Given the description of an element on the screen output the (x, y) to click on. 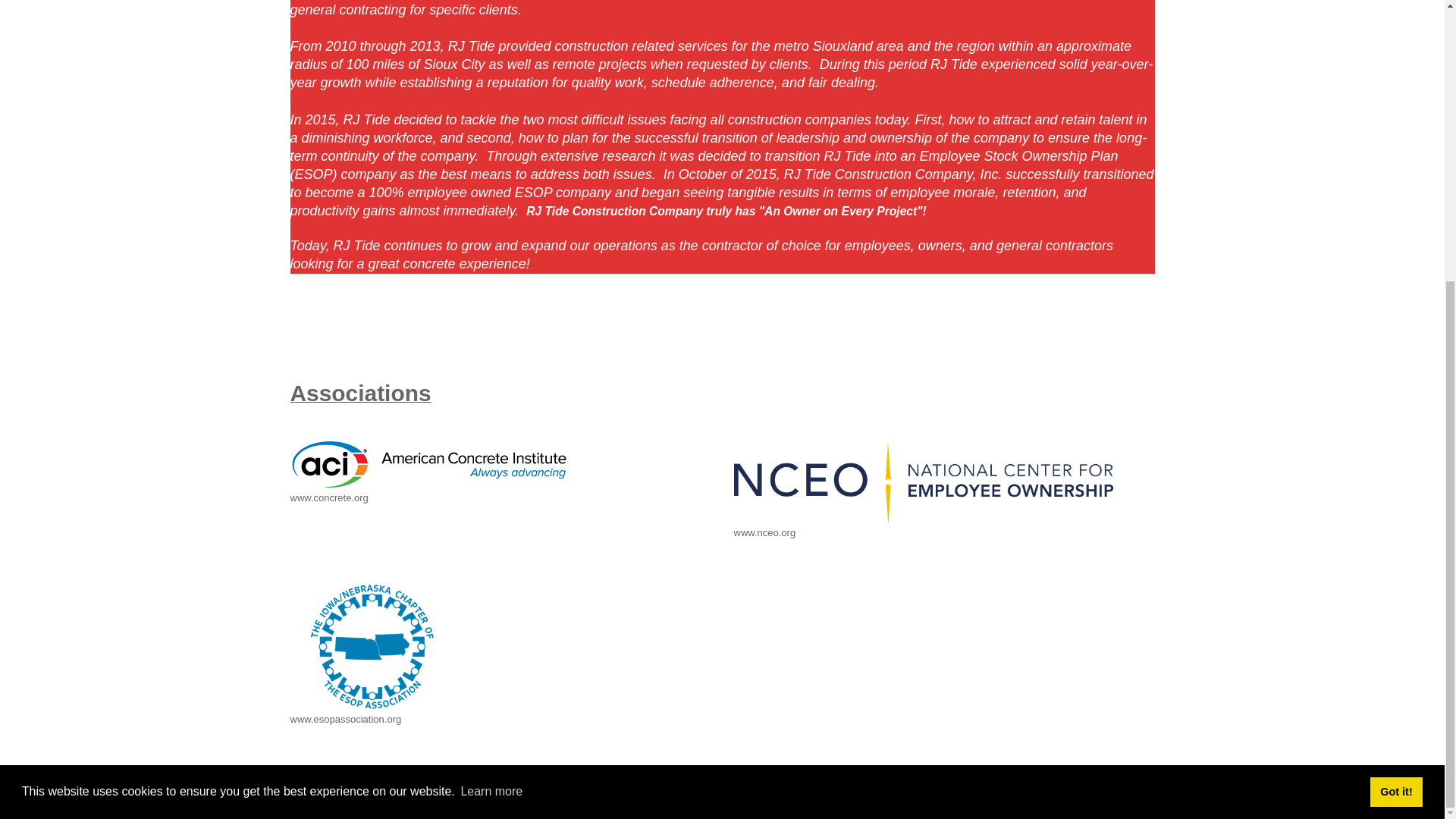
The ESOP Association (370, 647)
Got it! (1396, 372)
Learn more (491, 372)
